Given the description of an element on the screen output the (x, y) to click on. 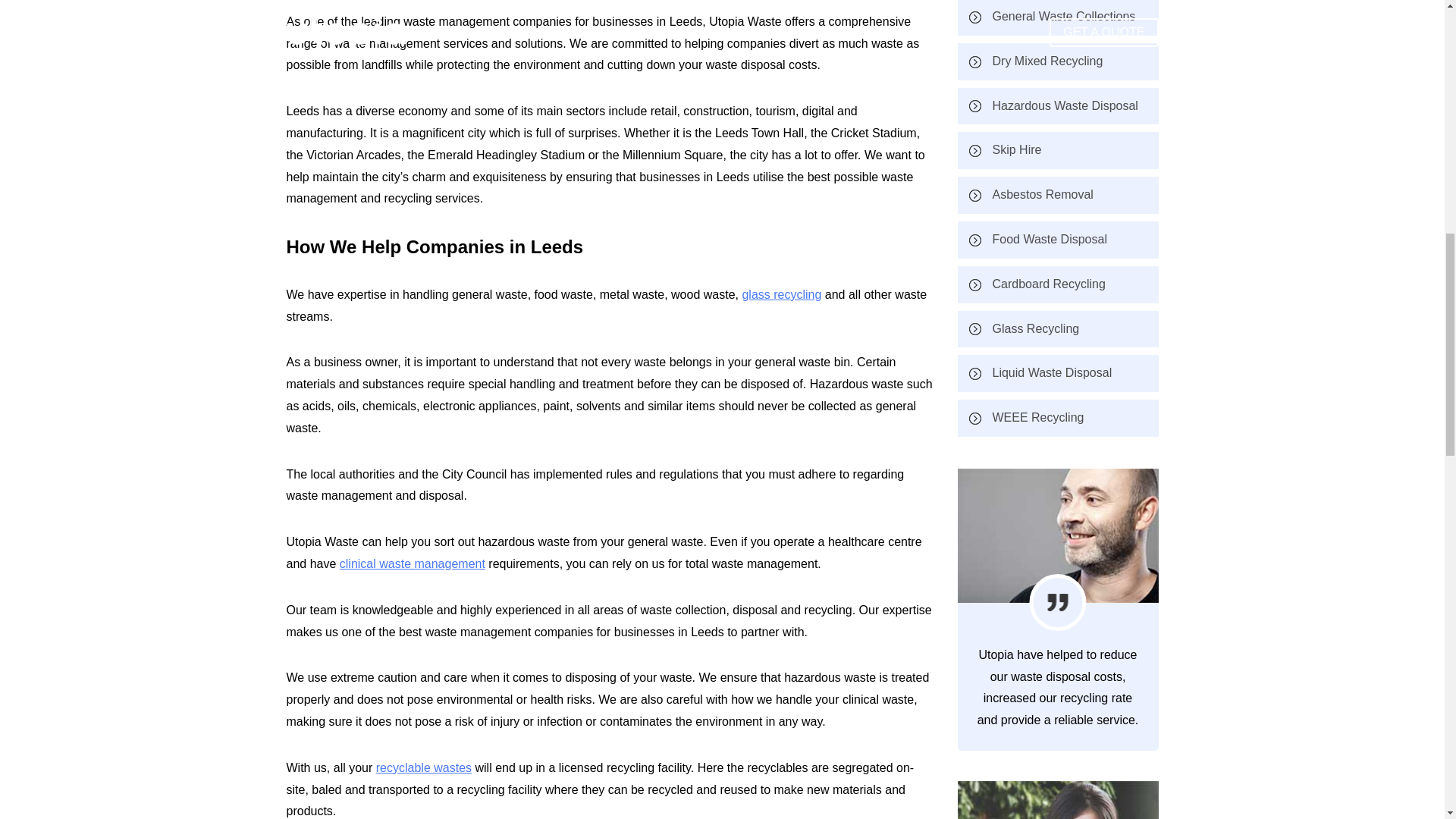
Glass Recycling (1056, 329)
Skip Hire (1056, 149)
Food Waste Disposal (1056, 239)
Asbestos Removal (1056, 194)
Hazardous Waste Disposal (1056, 106)
recyclable wastes (423, 767)
General Waste Collections (1056, 18)
Dry Mixed Recycling (1056, 61)
glass recycling (781, 294)
WEEE Recycling (1056, 417)
clinical waste management (411, 563)
Cardboard Recycling (1056, 284)
Liquid Waste Disposal (1056, 373)
